Given the description of an element on the screen output the (x, y) to click on. 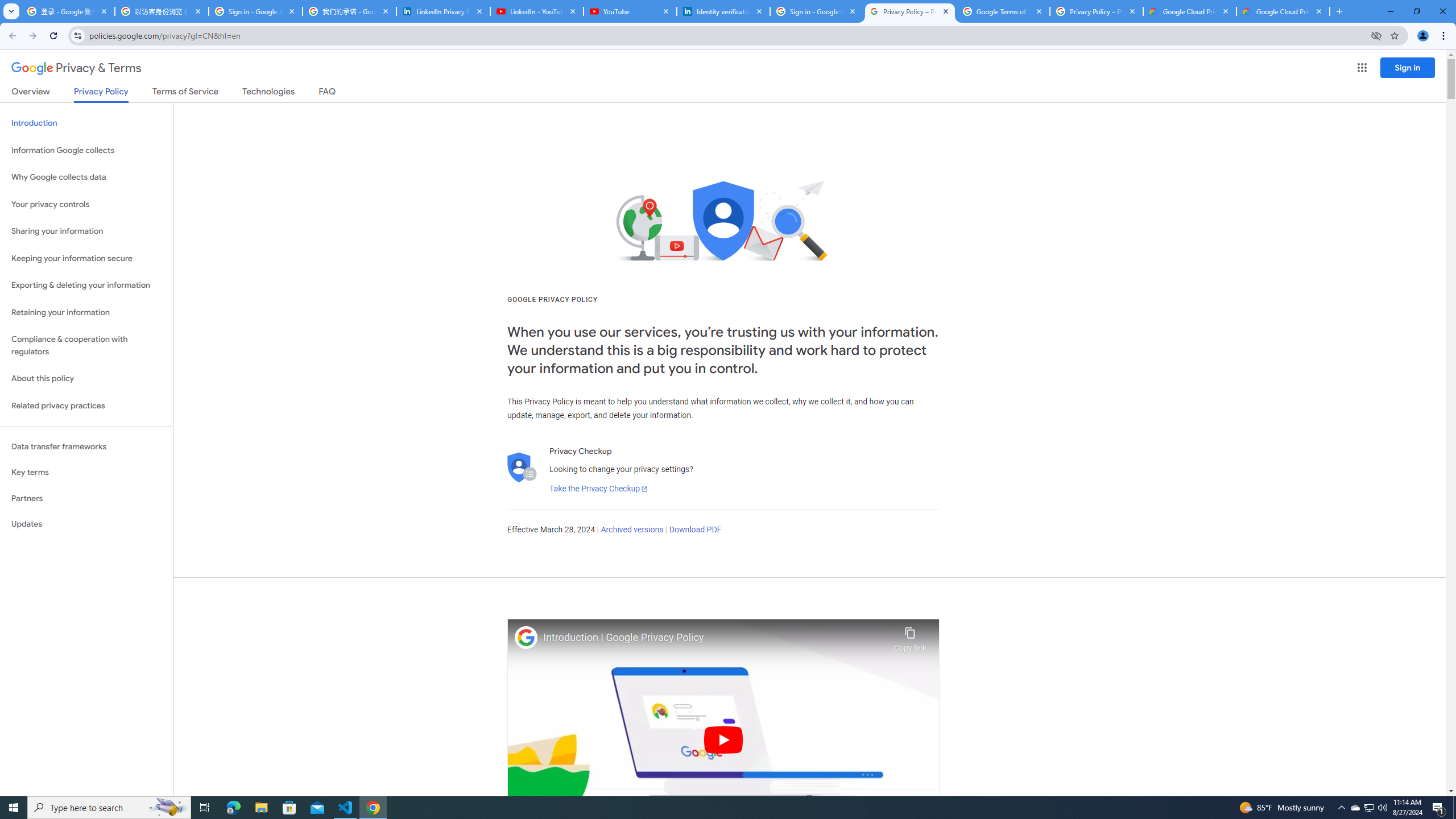
Keeping your information secure (86, 258)
Google Cloud Privacy Notice (1283, 11)
Photo image of Google (526, 636)
Archived versions (631, 529)
Retaining your information (86, 312)
Your privacy controls (86, 204)
Sharing your information (86, 230)
